Given the description of an element on the screen output the (x, y) to click on. 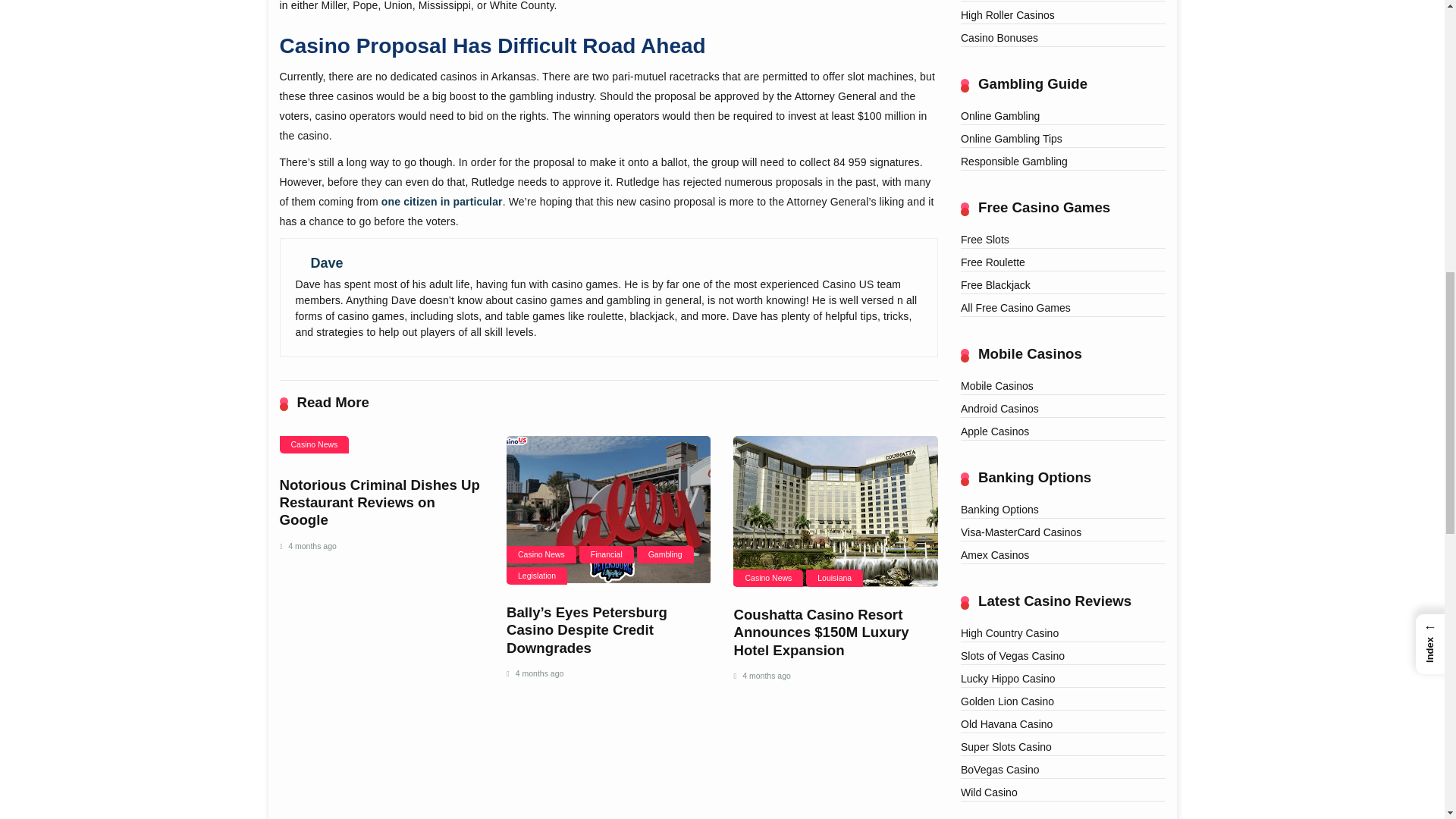
Notorious Criminal Dishes Up Restaurant Reviews on Google (379, 502)
Casino News (541, 554)
Financial (606, 554)
one citizen in particular (441, 201)
Dave (327, 263)
Casino News (314, 444)
Notorious Criminal Dishes Up Restaurant Reviews on Google (379, 502)
Gambling (665, 554)
